Given the description of an element on the screen output the (x, y) to click on. 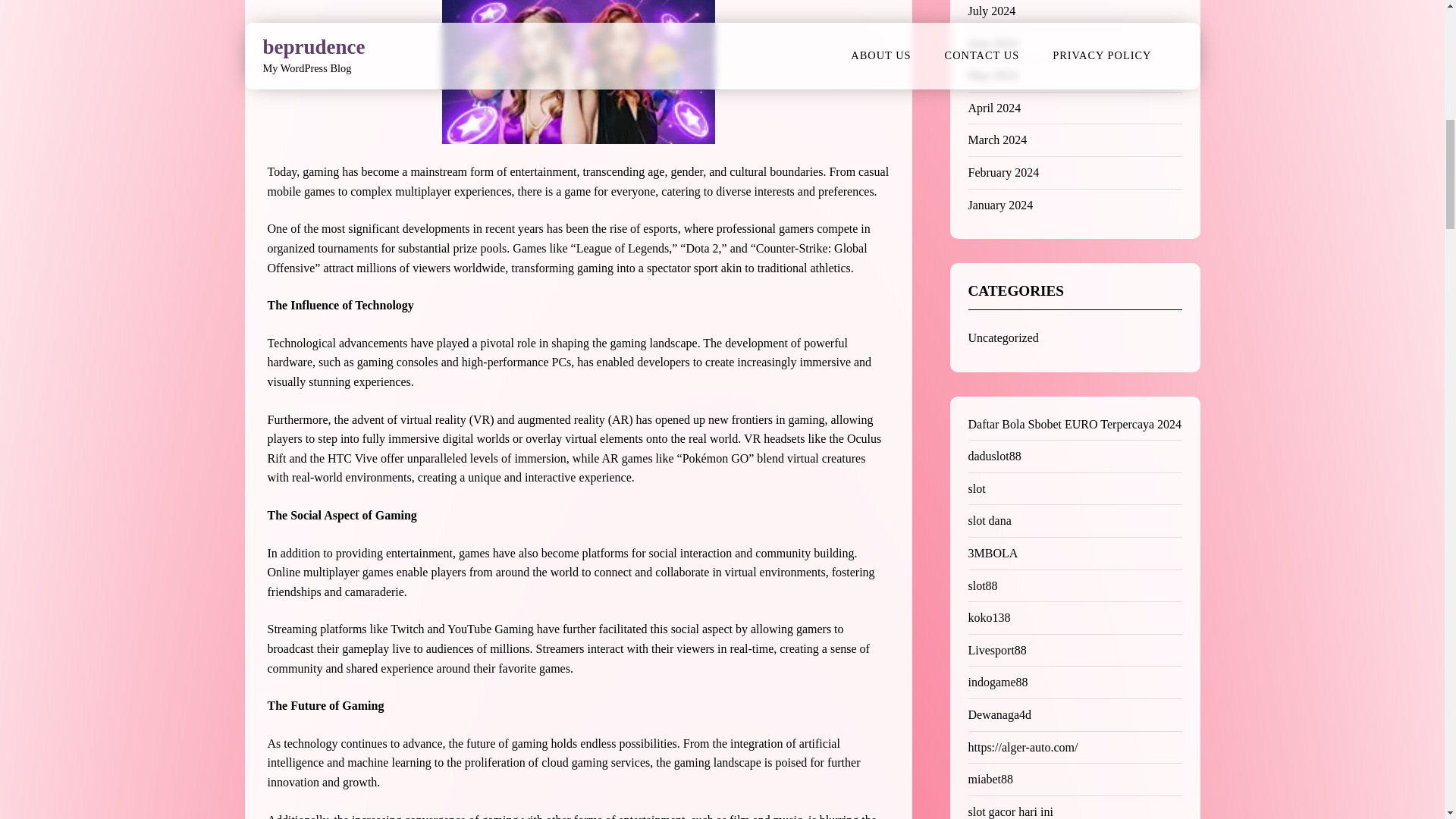
July 2024 (991, 10)
April 2024 (994, 107)
January 2024 (1000, 205)
June 2024 (992, 42)
May 2024 (992, 74)
February 2024 (1003, 172)
Uncategorized (1003, 337)
March 2024 (997, 139)
